Given the description of an element on the screen output the (x, y) to click on. 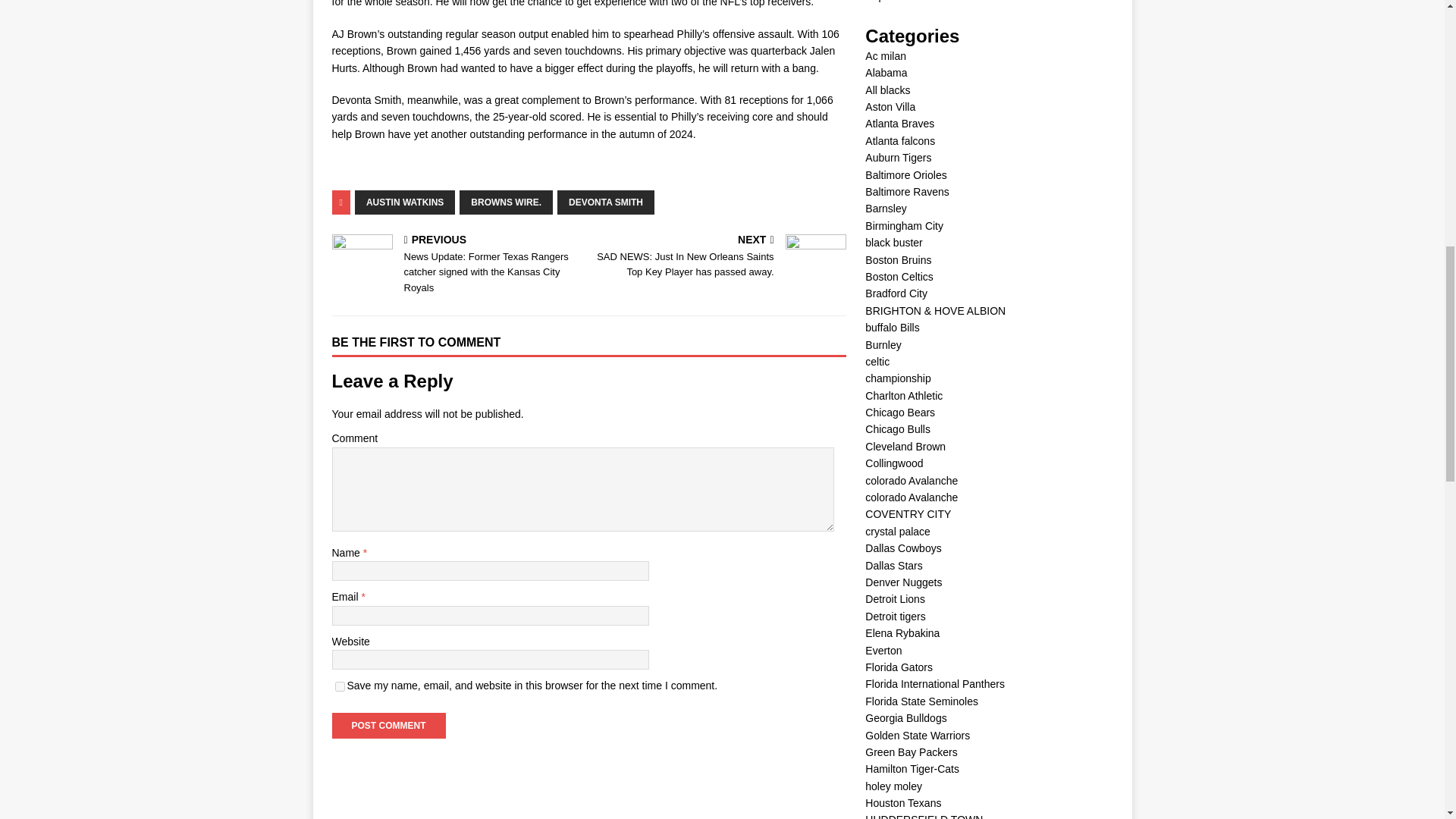
AUSTIN WATKINS (404, 202)
BROWNS WIRE. (506, 202)
Post Comment (388, 725)
Post Comment (388, 725)
yes (339, 686)
DEVONTA SMITH (605, 202)
